Given the description of an element on the screen output the (x, y) to click on. 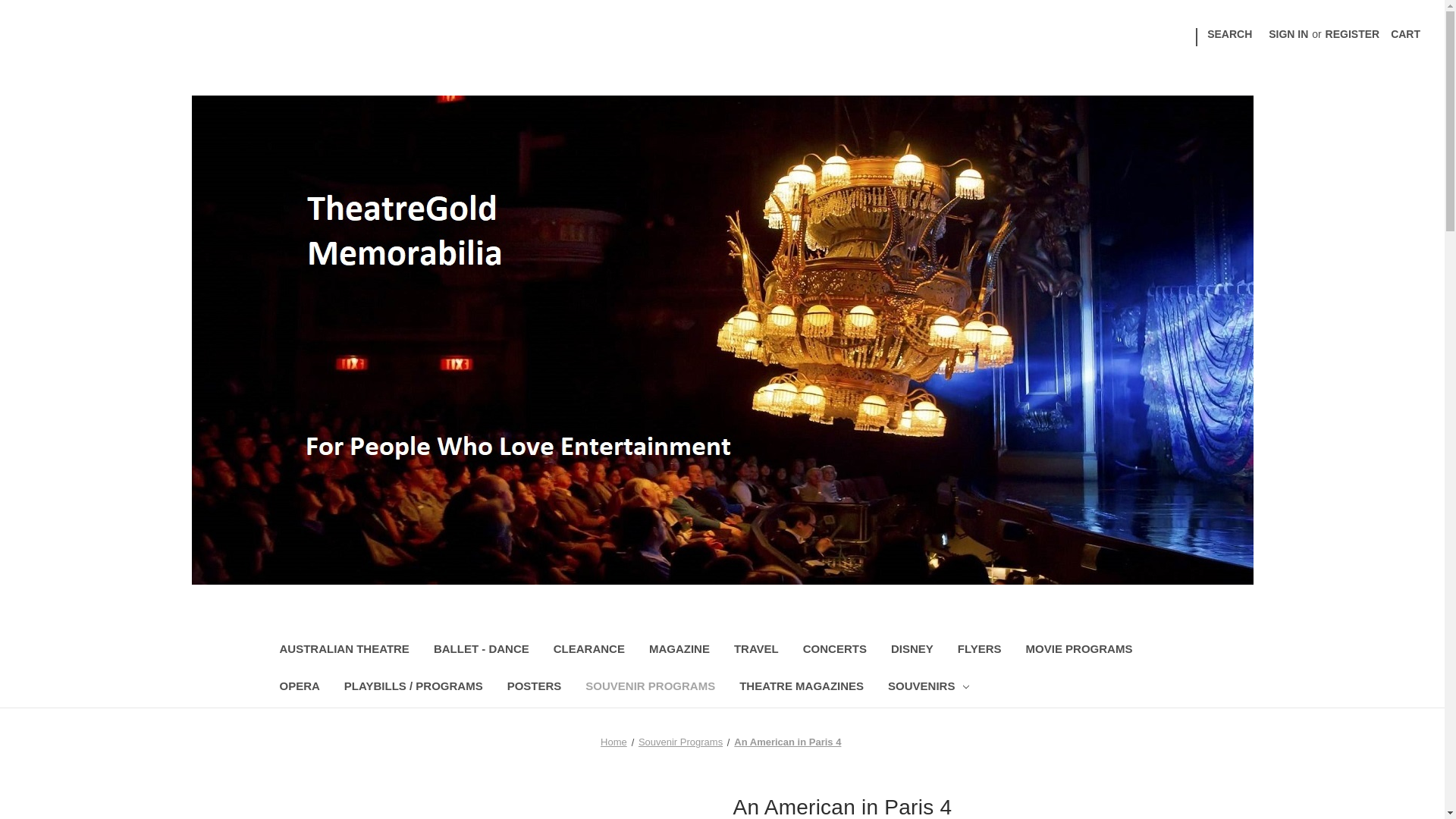
An American in Paris 4 (787, 741)
SIGN IN (1288, 34)
TRAVEL (756, 650)
THEATRE MAGAZINES (801, 687)
SOUVENIRS (928, 687)
AUSTRALIAN THEATRE (343, 650)
SOUVENIR PROGRAMS (649, 687)
BALLET - DANCE (481, 650)
